Given the description of an element on the screen output the (x, y) to click on. 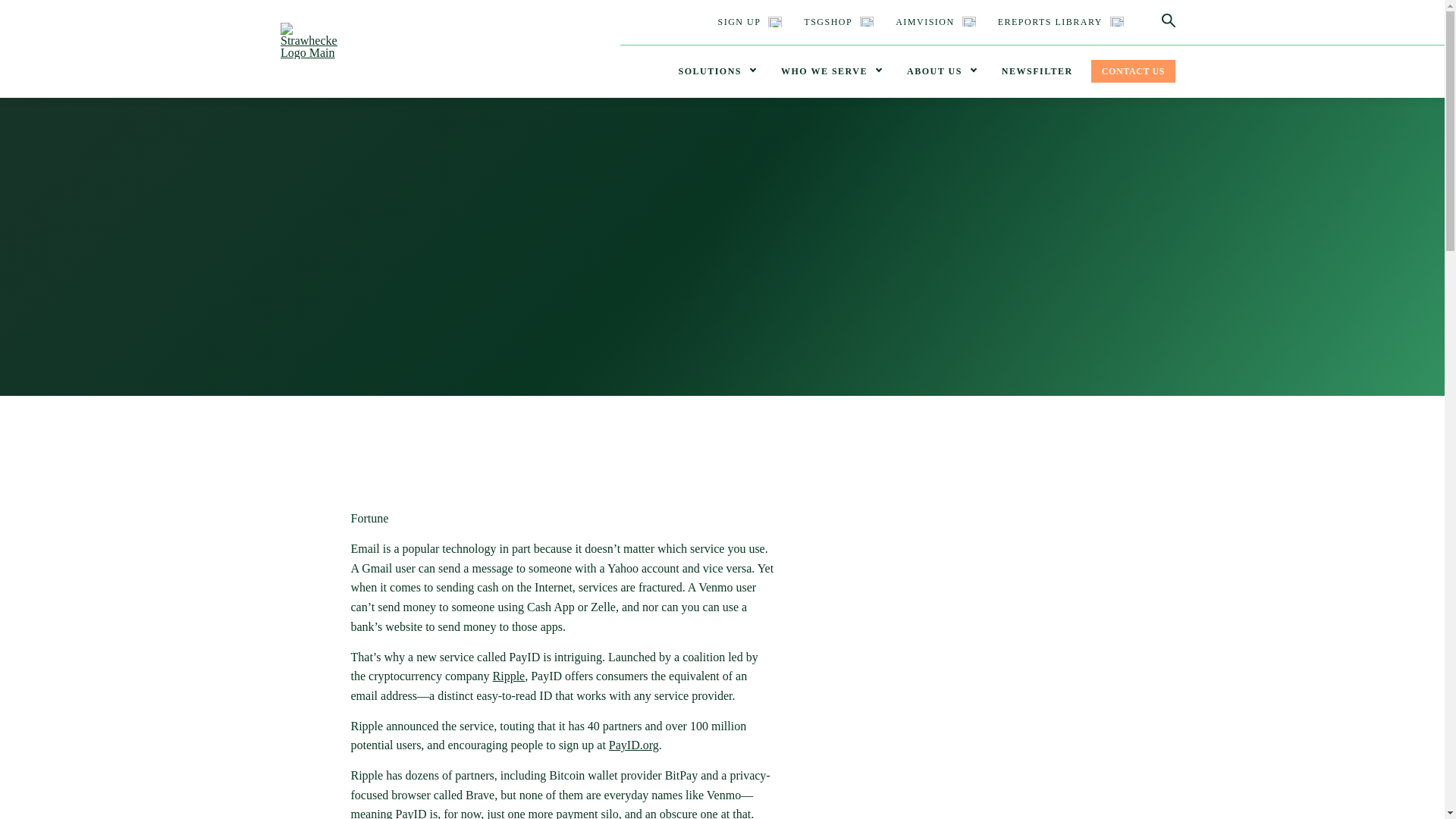
CONTACT US (1132, 70)
NEWSFILTER (1037, 70)
SOLUTIONS (715, 70)
TSGSHOP (838, 22)
EREPORTS LIBRARY (1060, 22)
TSG home (309, 52)
AIMVISION (935, 22)
WHO WE SERVE (830, 70)
ABOUT US (941, 70)
SIGN UP (749, 22)
